Given the description of an element on the screen output the (x, y) to click on. 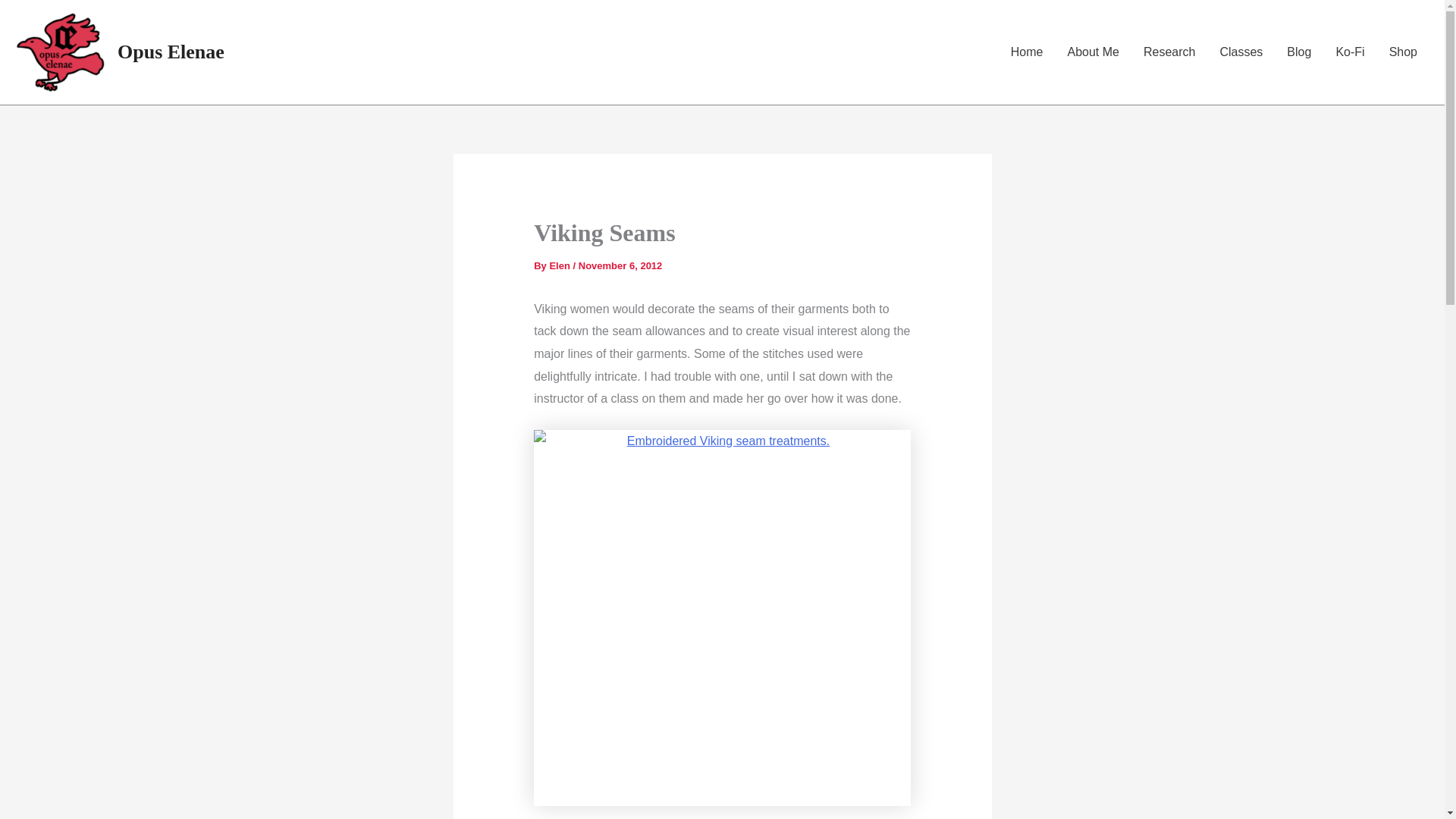
Home (1026, 52)
Research (1169, 52)
Ko-Fi (1349, 52)
Blog (1299, 52)
Elen (560, 265)
Classes (1241, 52)
Shop (1403, 52)
Opus Elenae (170, 51)
View all posts by Elen (560, 265)
About Me (1092, 52)
